Given the description of an element on the screen output the (x, y) to click on. 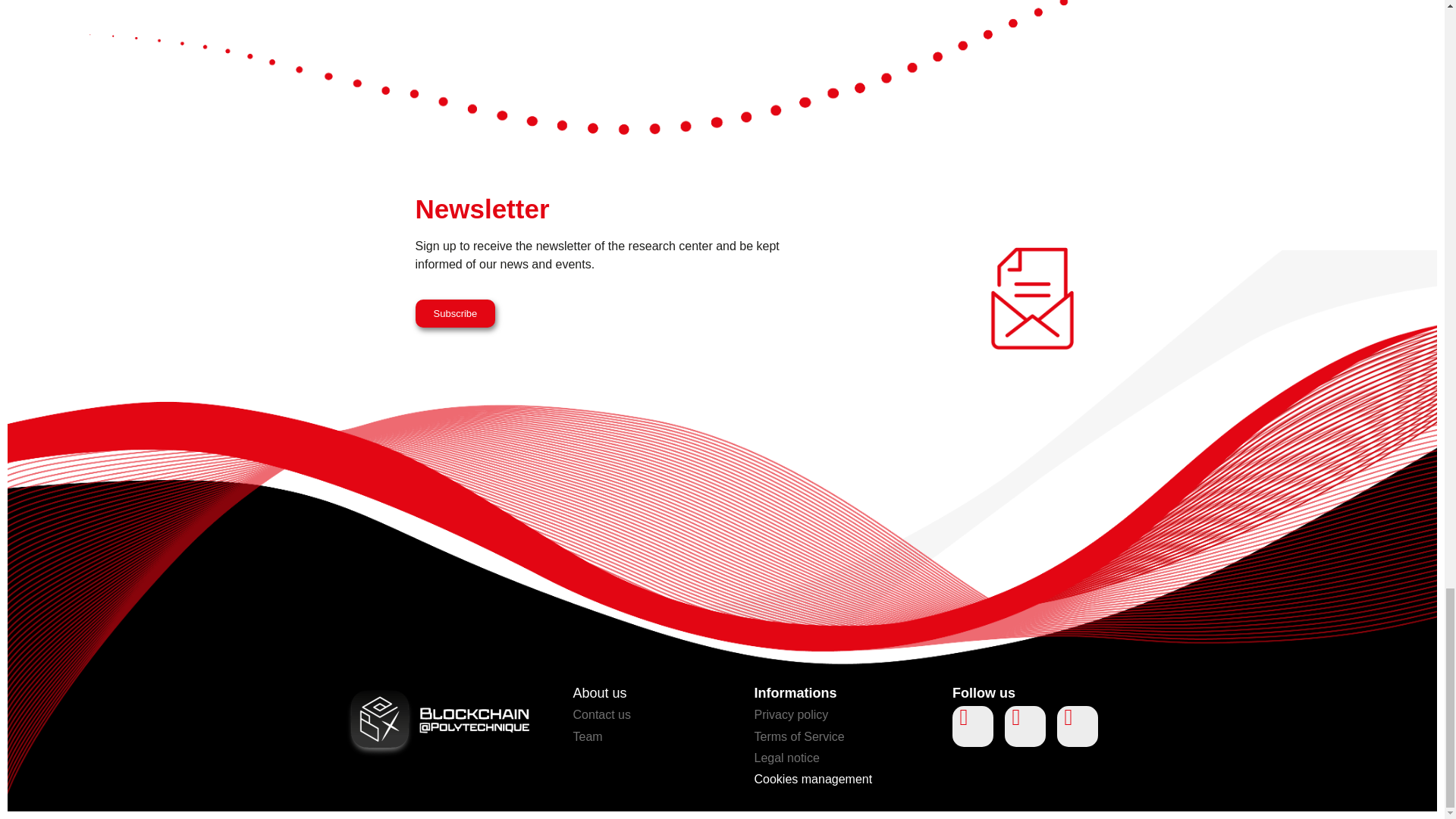
Privacy policy (791, 714)
Legal notice (786, 757)
Team (587, 736)
Contact us (601, 714)
Subscribe (455, 313)
Terms of Service (799, 736)
